Given the description of an element on the screen output the (x, y) to click on. 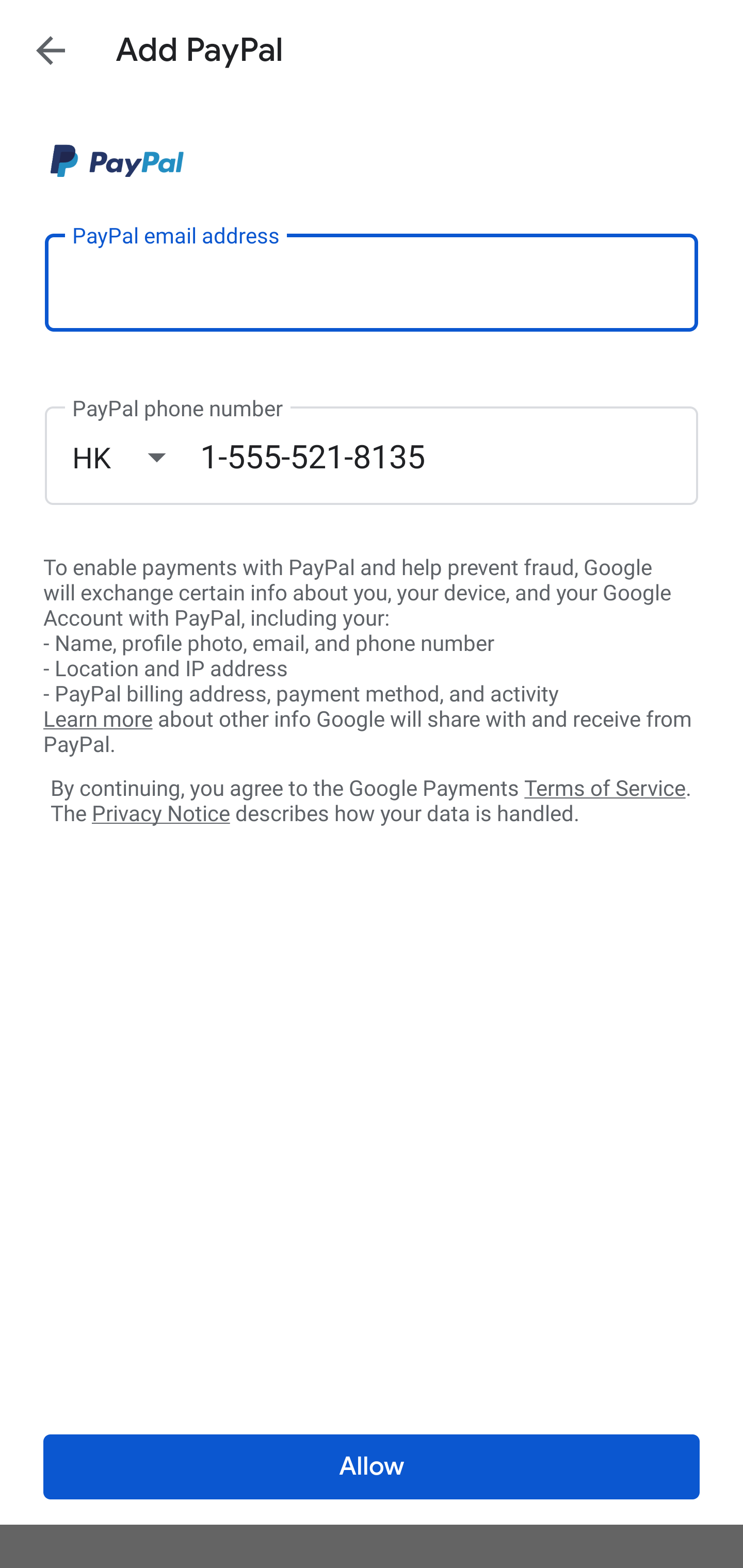
Navigate up (50, 50)
PayPal email address (371, 282)
HK (135, 456)
Learn more (97, 719)
Terms of Service (604, 787)
Privacy Notice (160, 814)
Allow (371, 1466)
